Given the description of an element on the screen output the (x, y) to click on. 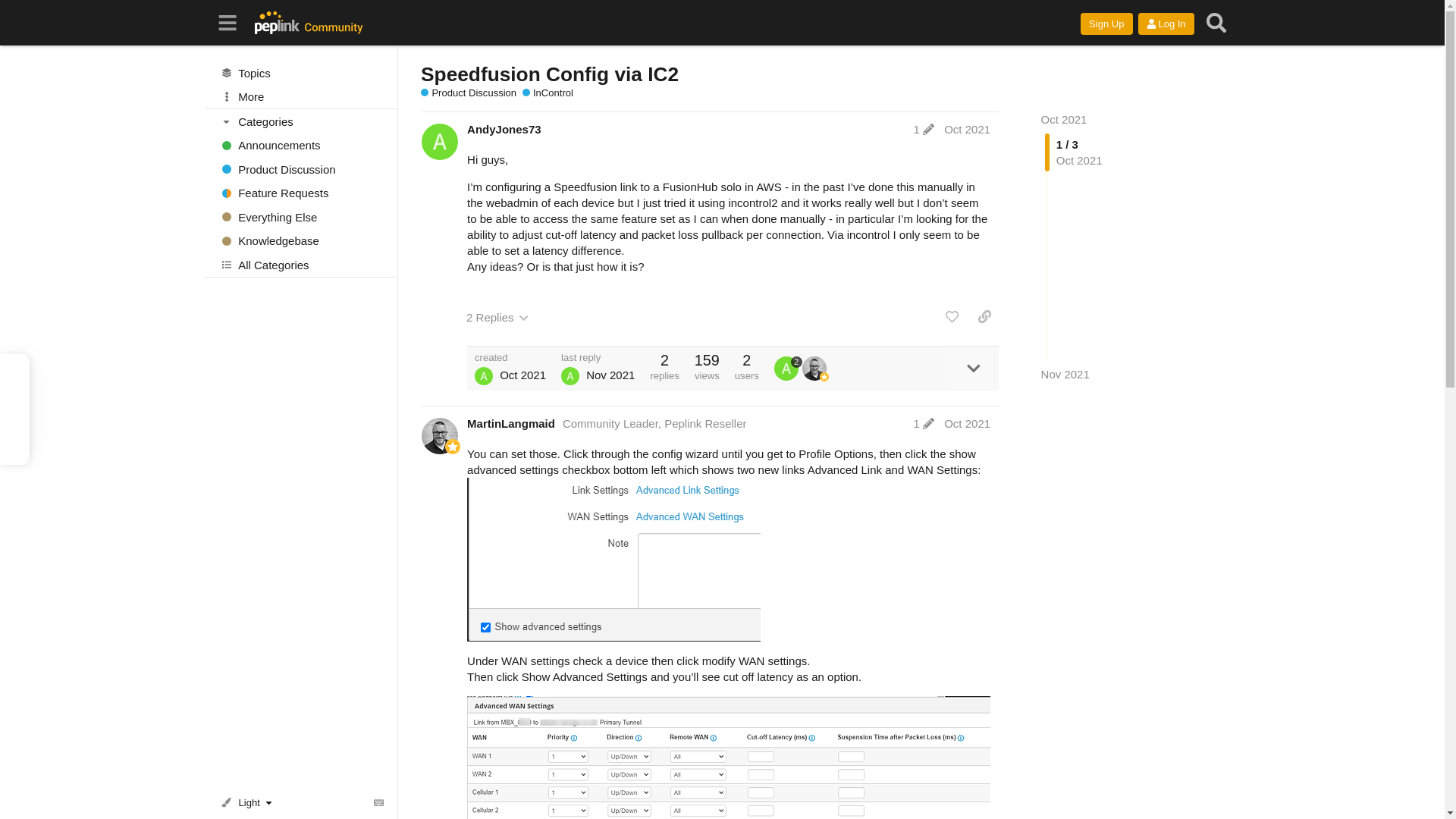
Topics (301, 72)
1 (923, 128)
More (301, 96)
AndyJones73 (504, 129)
Sign Up (1106, 24)
Everything Else (301, 216)
Log In (1165, 24)
Categories (301, 120)
last reply (597, 357)
Catch exciting news that we have to share with you. (301, 145)
Knowledgebase (301, 241)
Collection of all things Peplink! (301, 216)
Keyboard Shortcuts (378, 802)
